Given the description of an element on the screen output the (x, y) to click on. 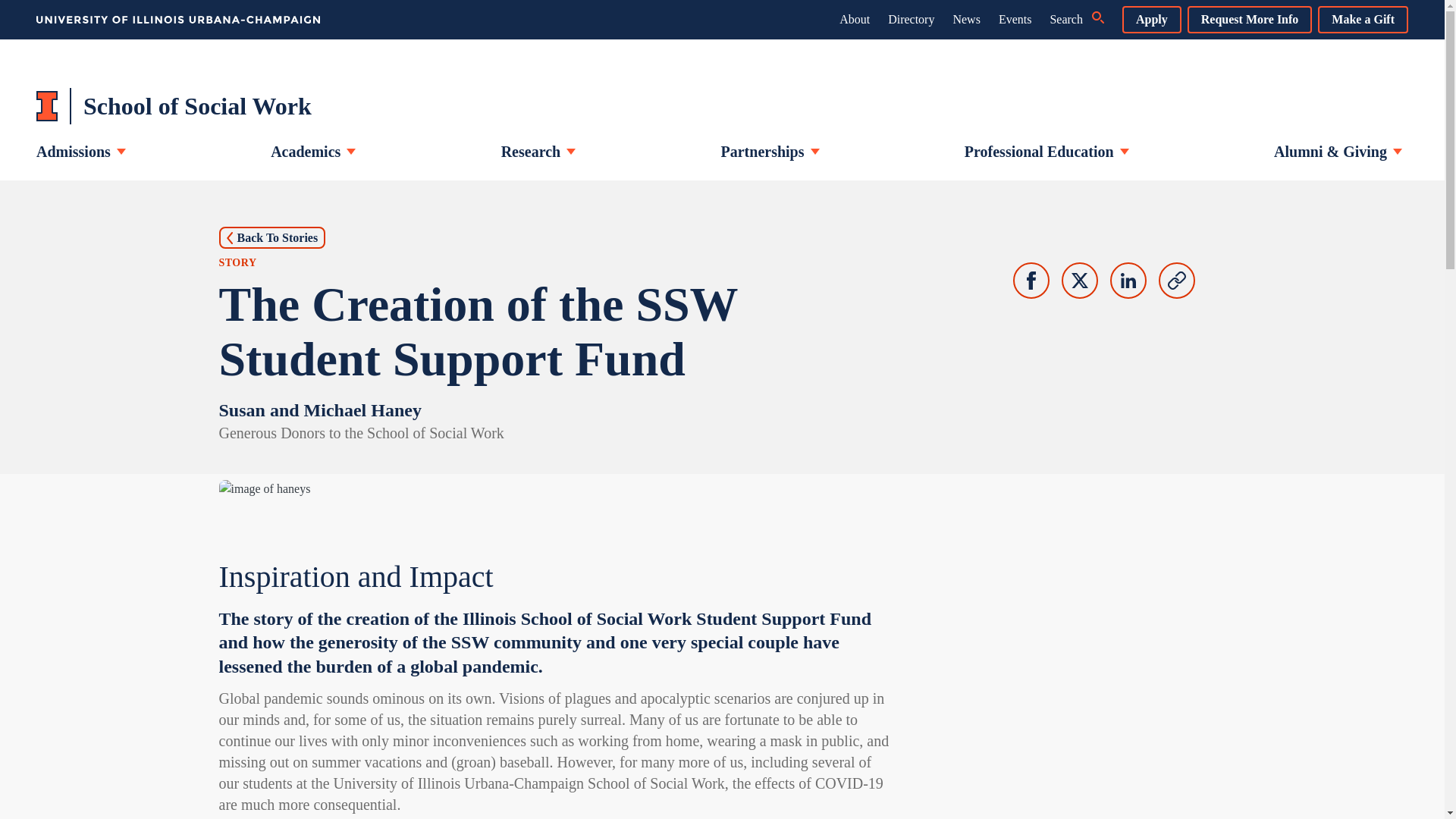
Search (1076, 19)
Admissions (80, 151)
Academics (312, 151)
News (965, 19)
Apply (1151, 19)
School of Social Work (173, 105)
Directory (911, 19)
Make a Gift (1362, 19)
Events (1015, 19)
About (854, 19)
Request More Info (1250, 19)
